Given the description of an element on the screen output the (x, y) to click on. 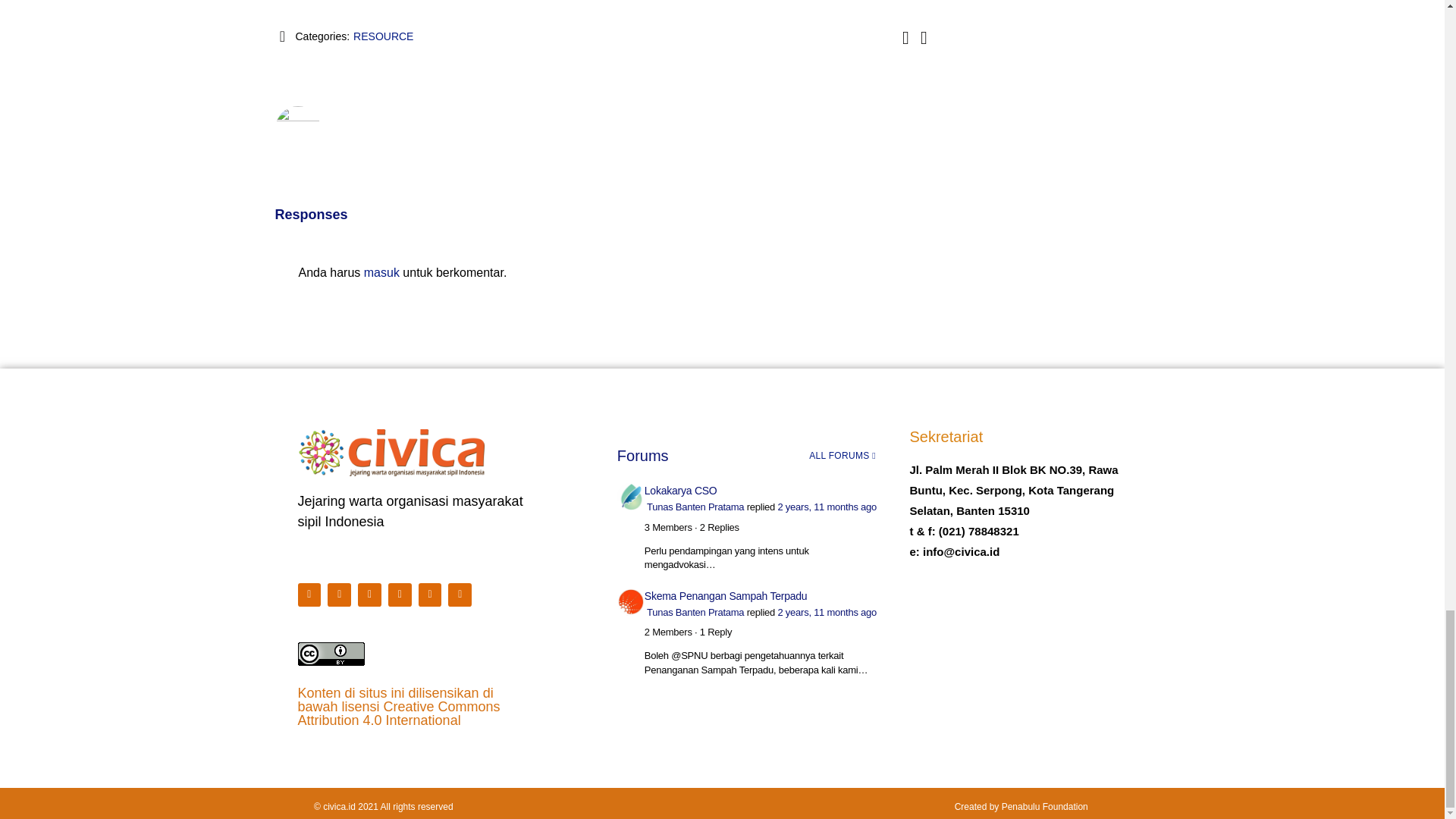
Reply To: Lokakarya CSO (826, 506)
